Given the description of an element on the screen output the (x, y) to click on. 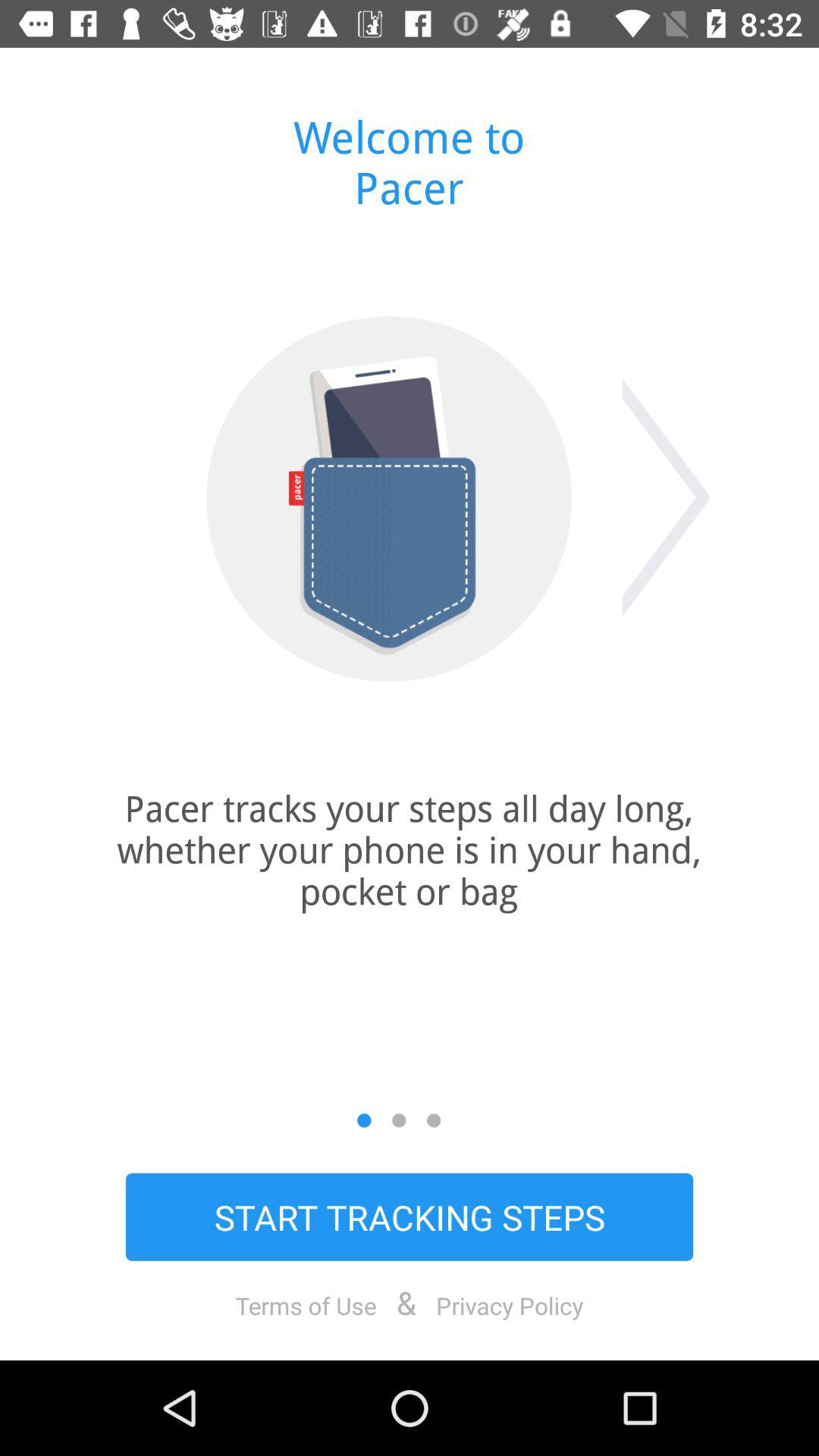
tap terms of use item (305, 1305)
